Given the description of an element on the screen output the (x, y) to click on. 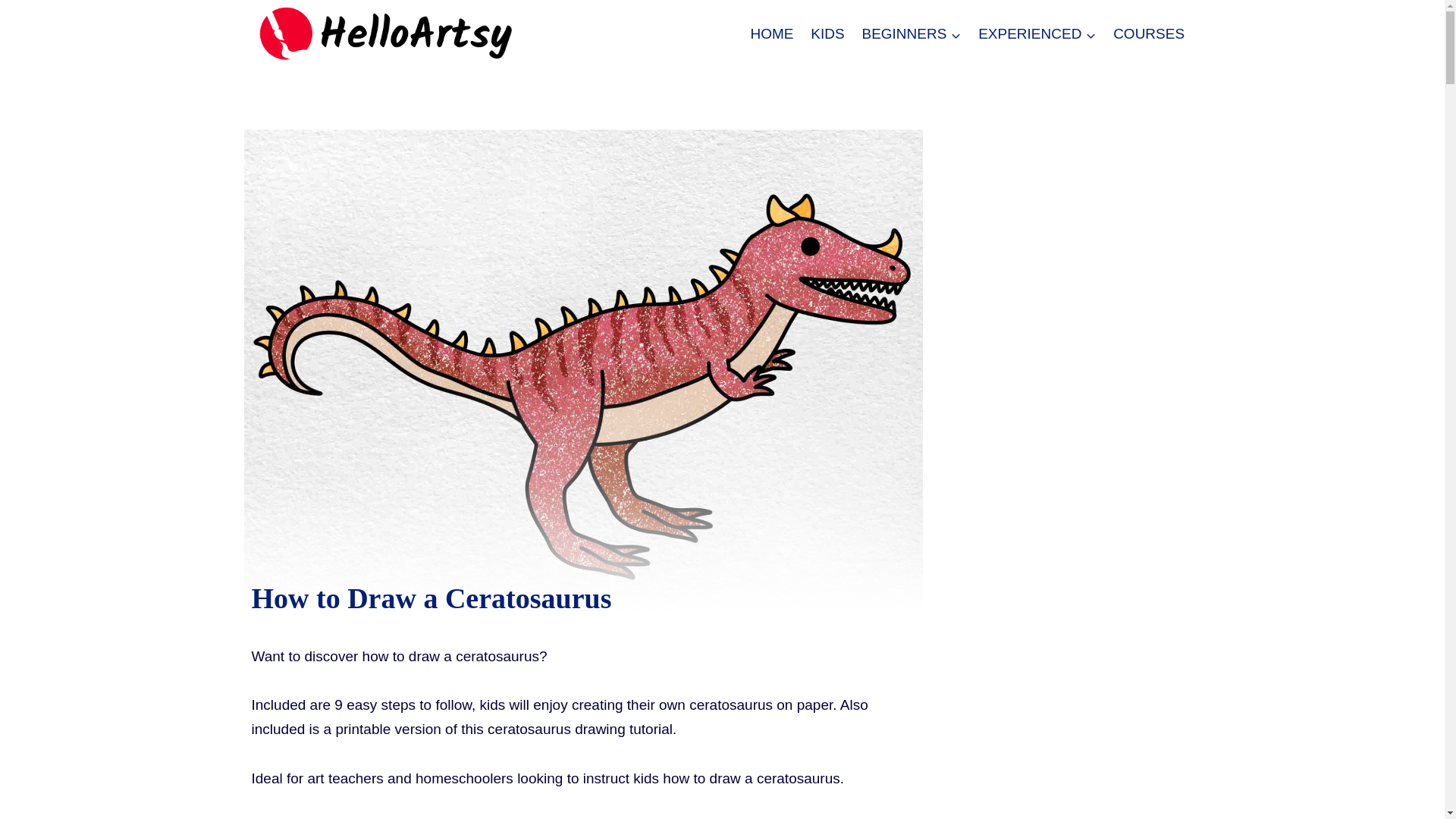
BEGINNERS (911, 34)
EXPERIENCED (1037, 34)
KIDS (827, 34)
HOME (771, 34)
COURSES (1149, 34)
